Given the description of an element on the screen output the (x, y) to click on. 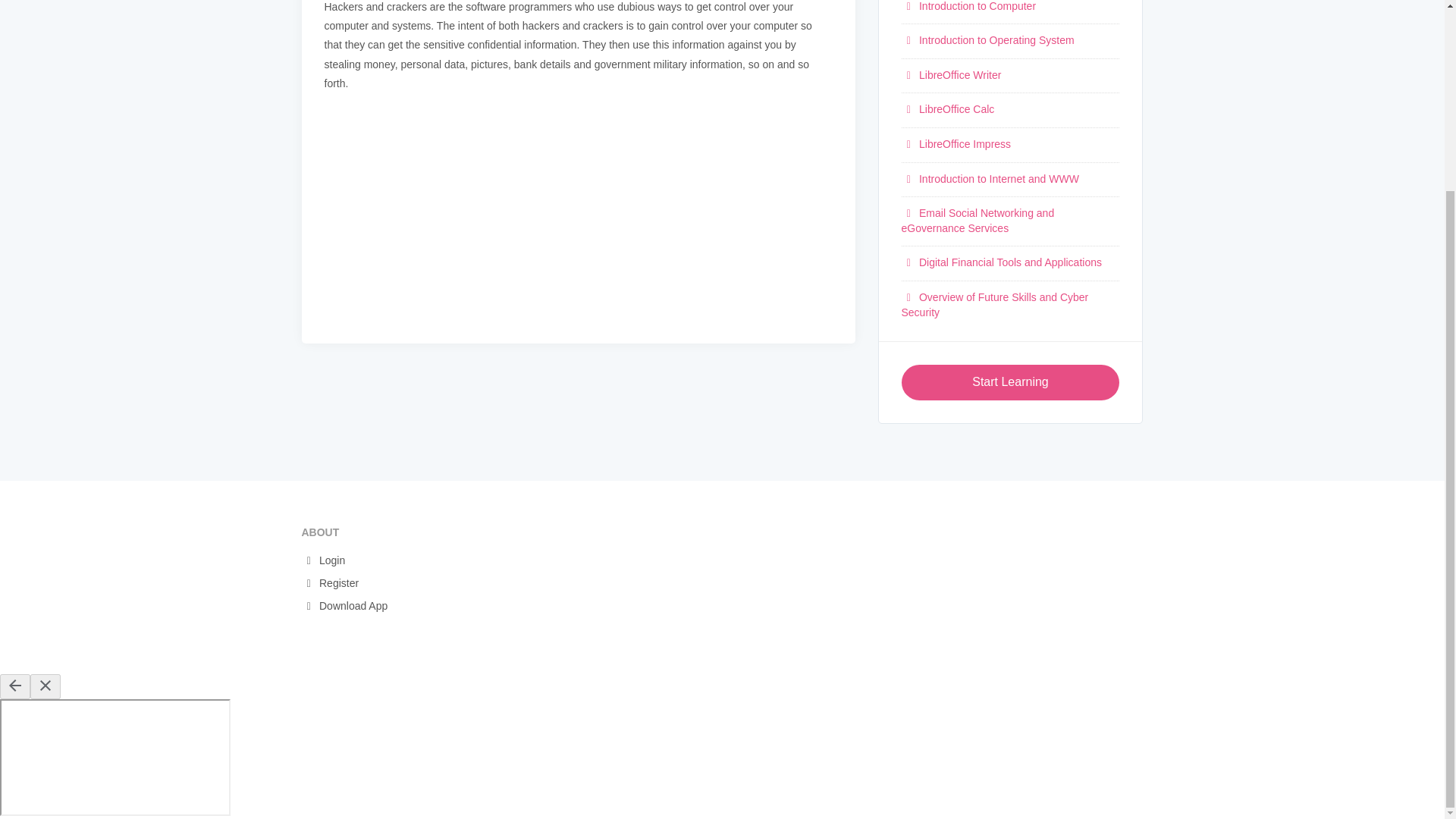
Register (338, 583)
Start Learning (1010, 381)
LibreOffice Writer (951, 74)
Introduction to Computer (968, 6)
LibreOffice Calc (947, 109)
Email Social Networking and eGovernance Services (977, 220)
Introduction to Operating System (987, 39)
Login (331, 560)
Introduction to Internet and WWW (989, 178)
Digital Financial Tools and Applications (1000, 262)
